Given the description of an element on the screen output the (x, y) to click on. 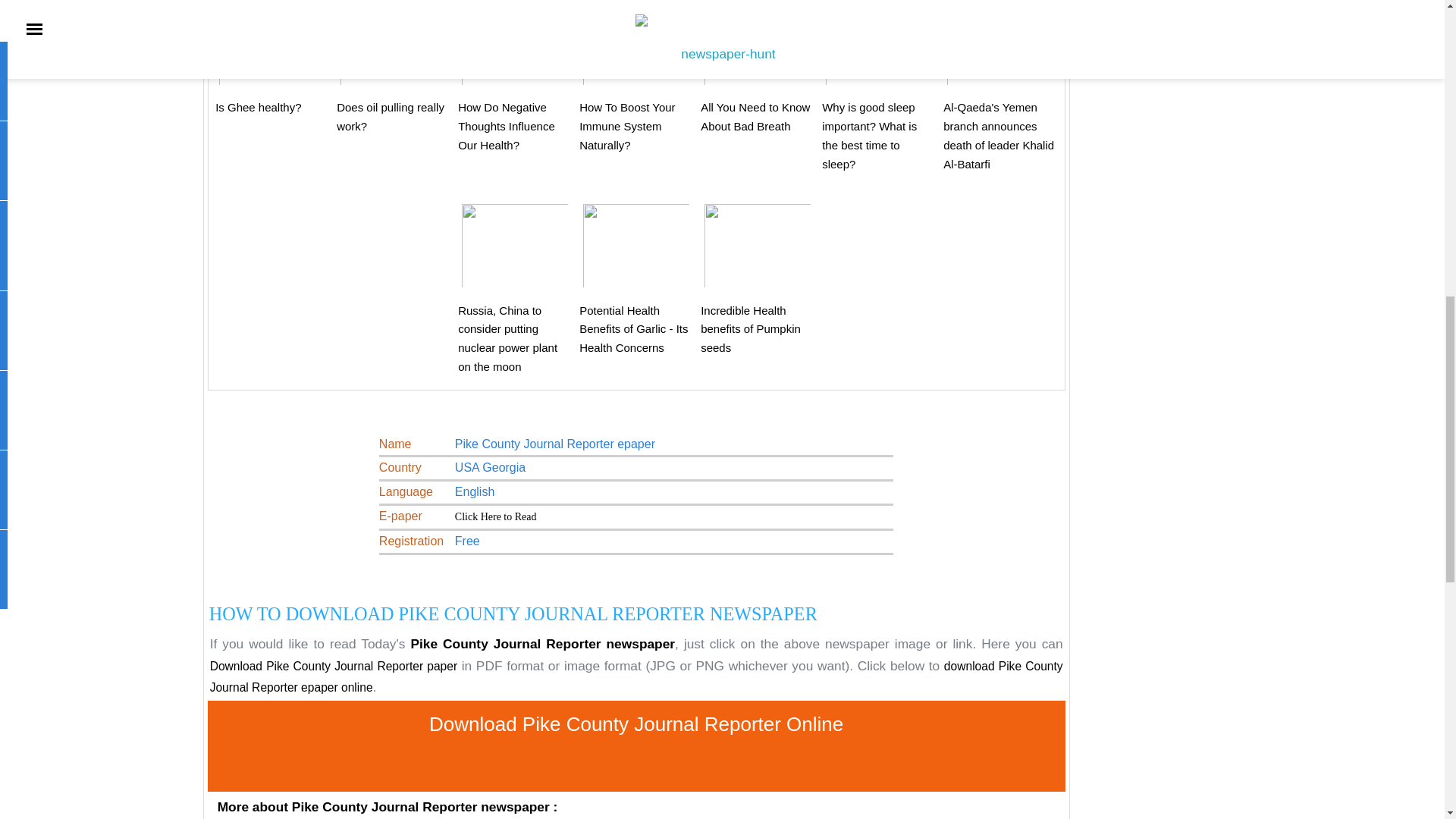
Download Pike County Journal Reporter news paper (495, 516)
